Given the description of an element on the screen output the (x, y) to click on. 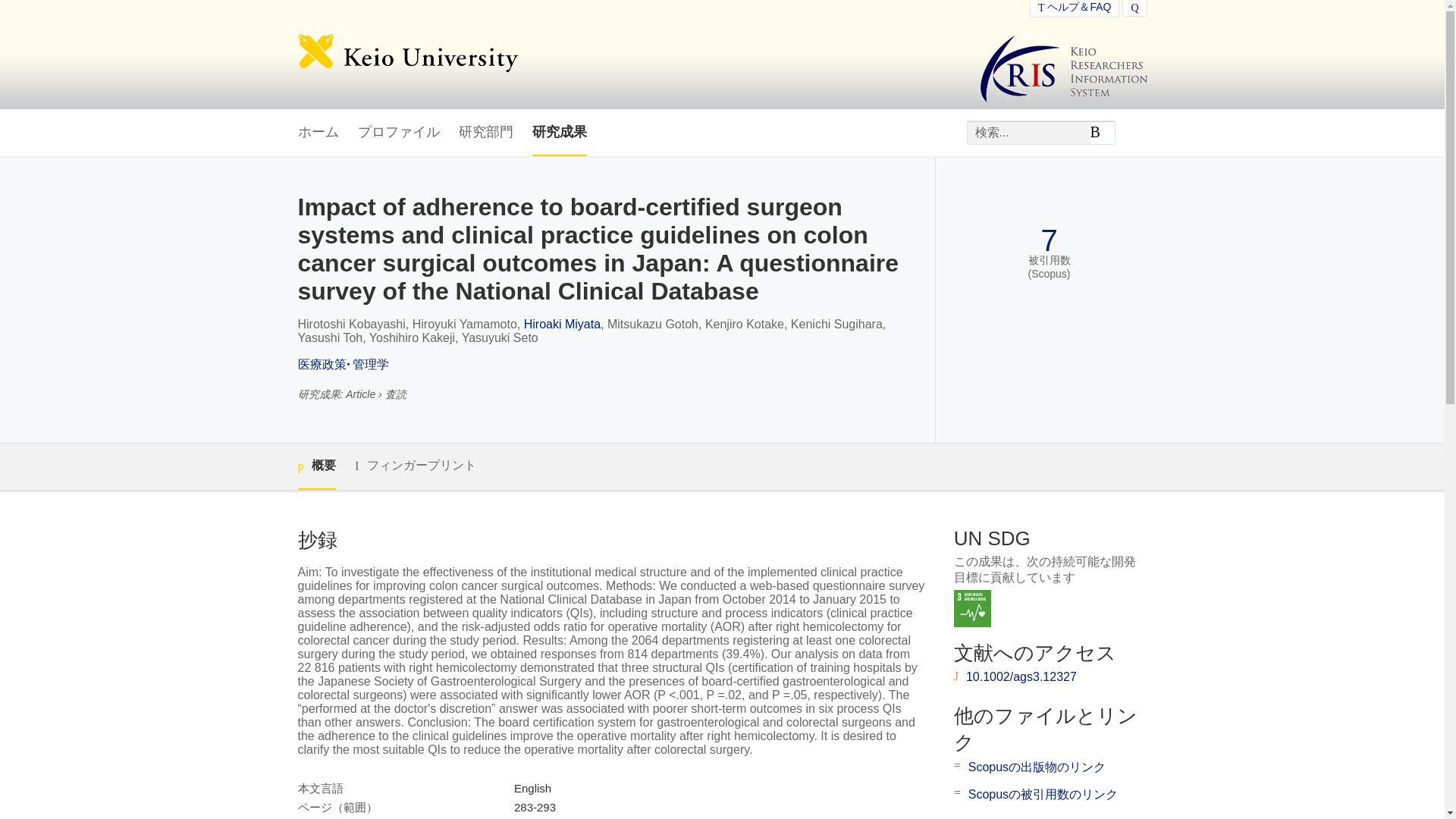
Hiroaki Miyata (561, 323)
